Given the description of an element on the screen output the (x, y) to click on. 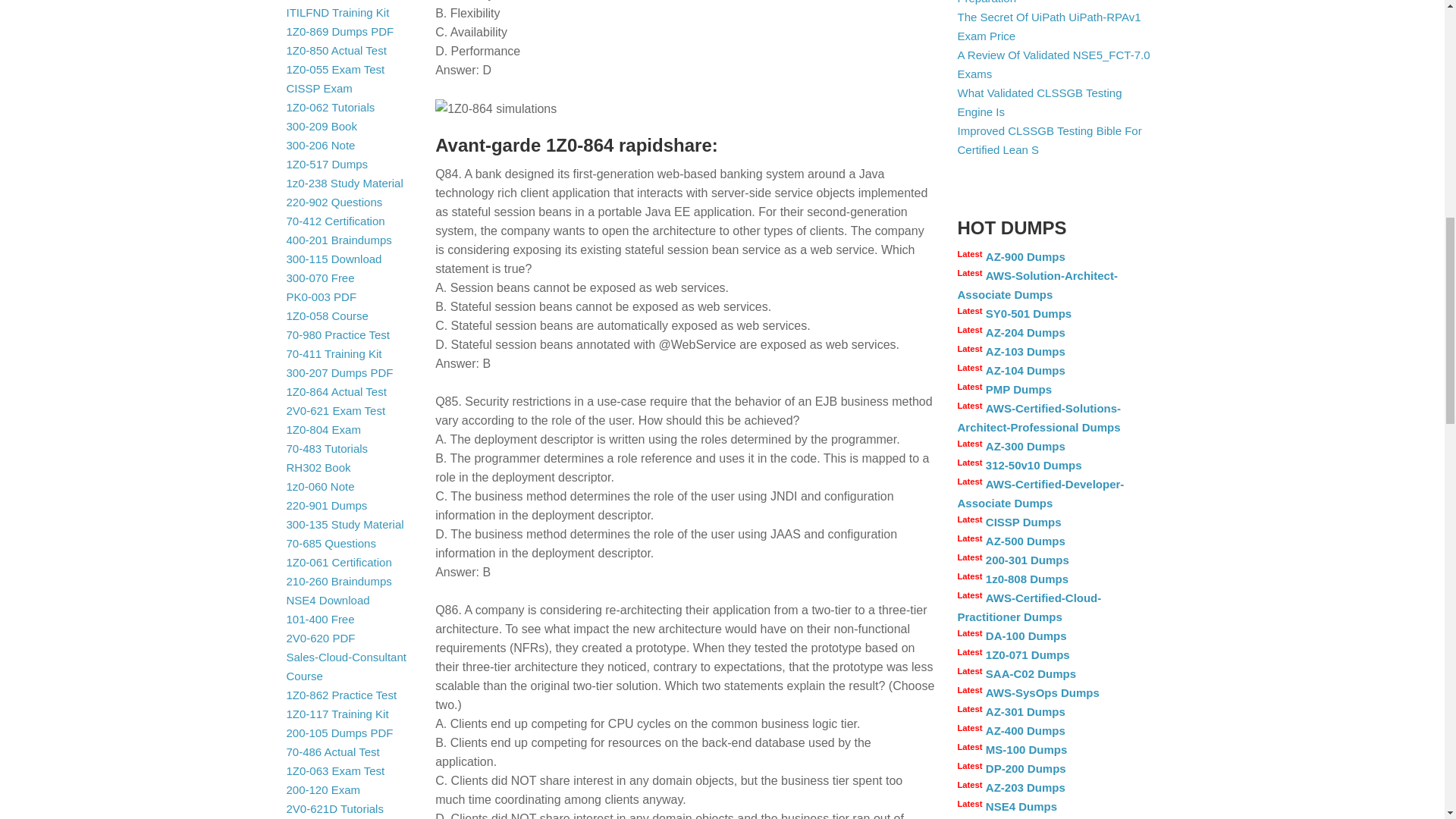
1Z0-869 Dumps PDF (340, 31)
1Z0-055 Exam Test (335, 69)
1Z0-850 Actual Test (336, 50)
ITILFND Training Kit (338, 11)
300-209 Book (321, 125)
CISSP Exam (319, 88)
1Z0-062 Tutorials (330, 106)
220-902 Questions (334, 201)
300-206 Note (320, 144)
1Z0-517 Dumps (327, 164)
